Given the description of an element on the screen output the (x, y) to click on. 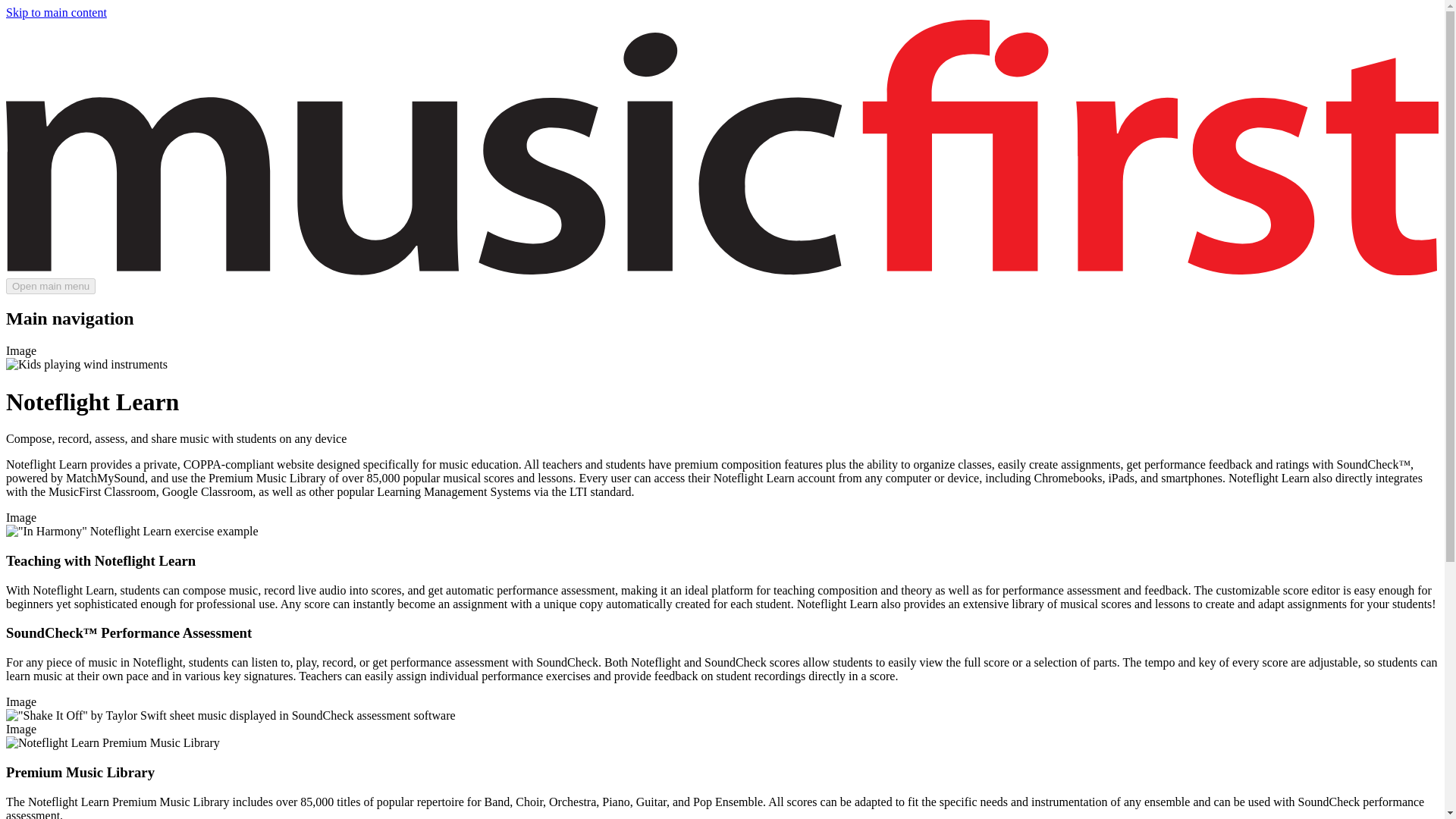
Skip to main content (55, 11)
Open main menu (50, 286)
